Given the description of an element on the screen output the (x, y) to click on. 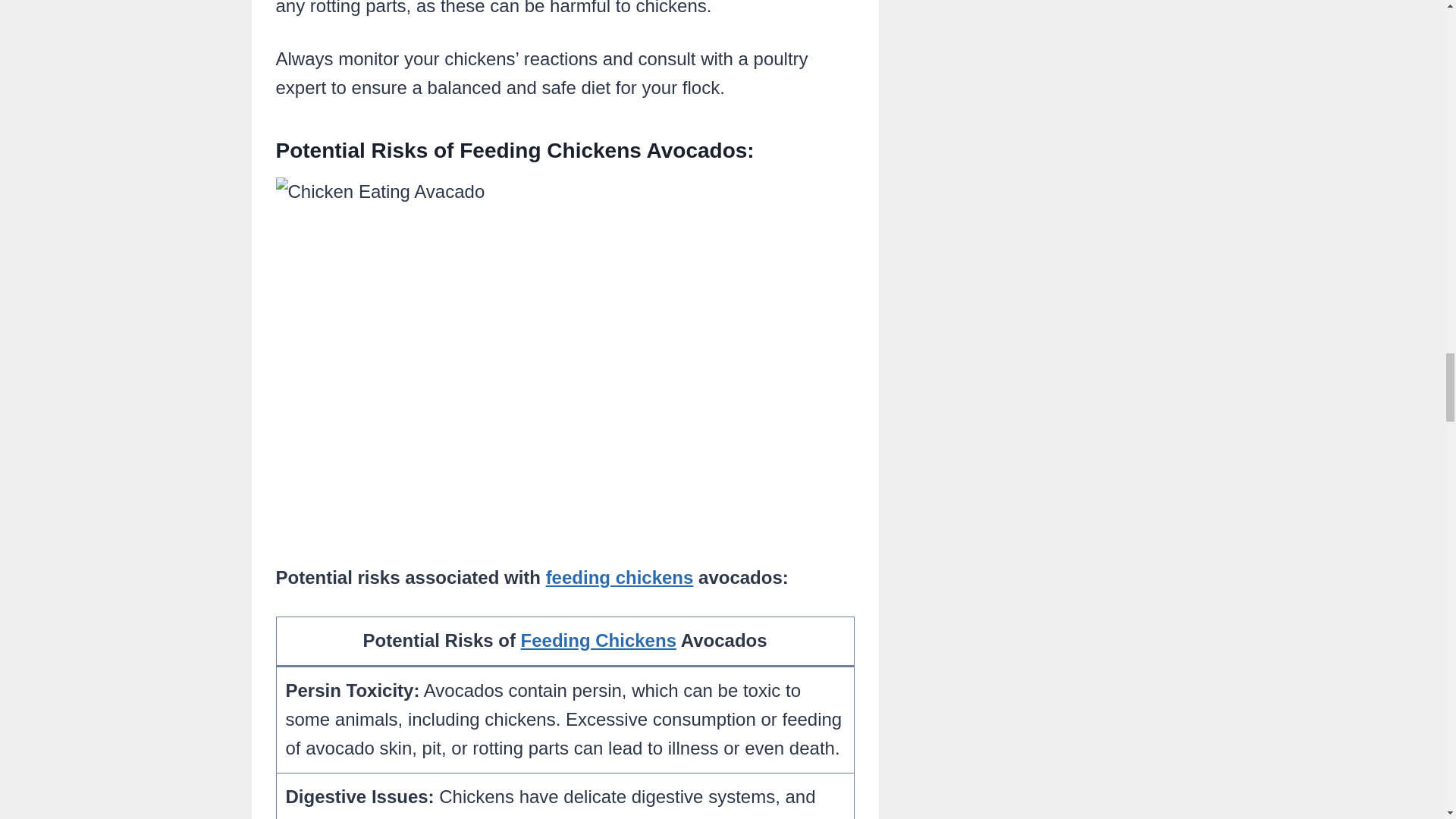
feeding chickens (620, 577)
Feeding Chickens (599, 639)
